Given the description of an element on the screen output the (x, y) to click on. 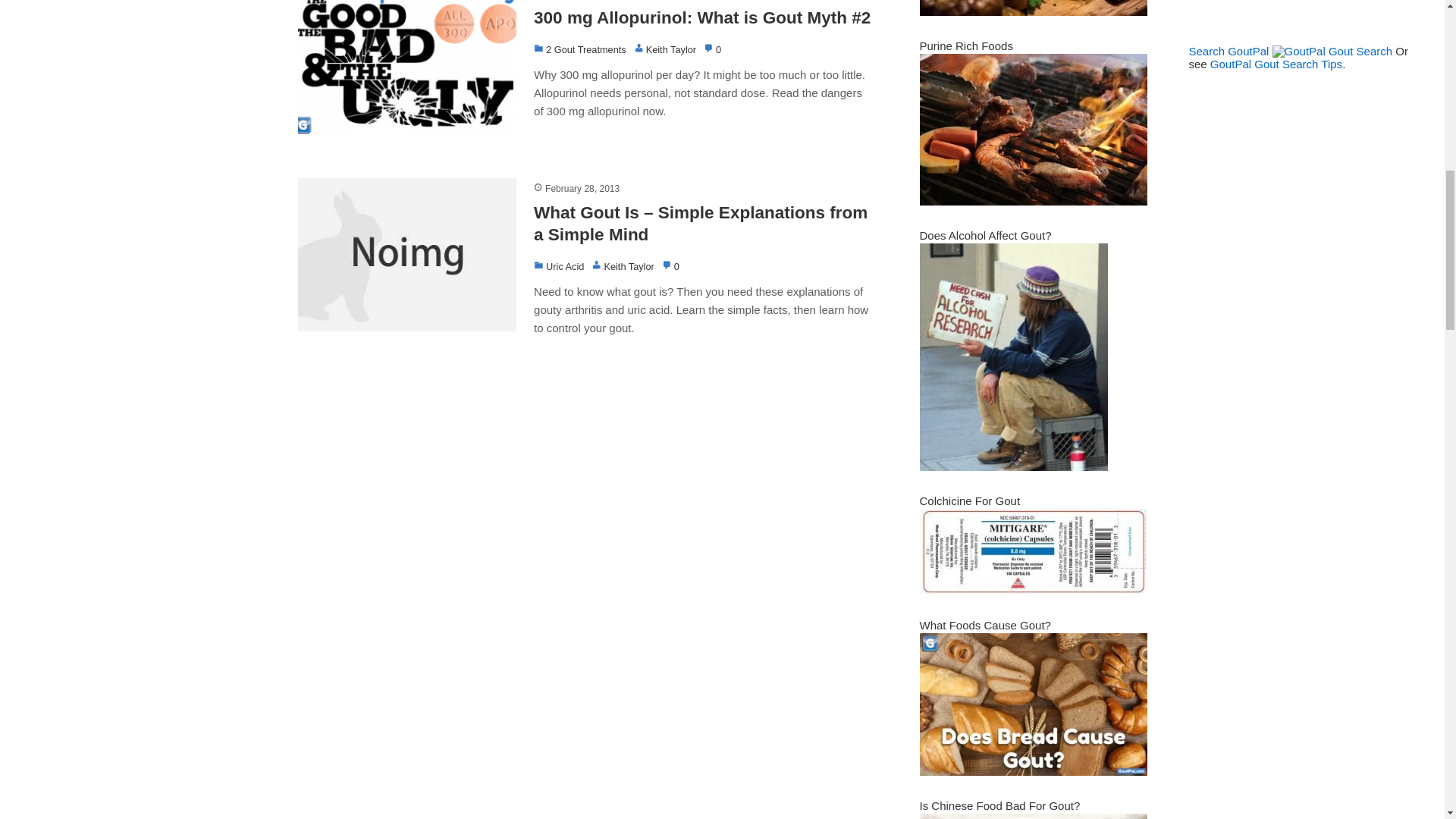
What Foods Cause Gout? (983, 625)
Foods High in Uric Acid Chart (1032, 11)
Colchicine For Gout (969, 500)
What Foods Cause Gout? (1032, 771)
Does Alcohol Affect Gout? (1012, 466)
Purine Rich Foods (1032, 201)
Colchicine For Gout (1032, 590)
Is Chinese Food Bad For Gout? (999, 805)
Does Alcohol Affect Gout? (984, 235)
Purine Rich Foods (964, 45)
